Given the description of an element on the screen output the (x, y) to click on. 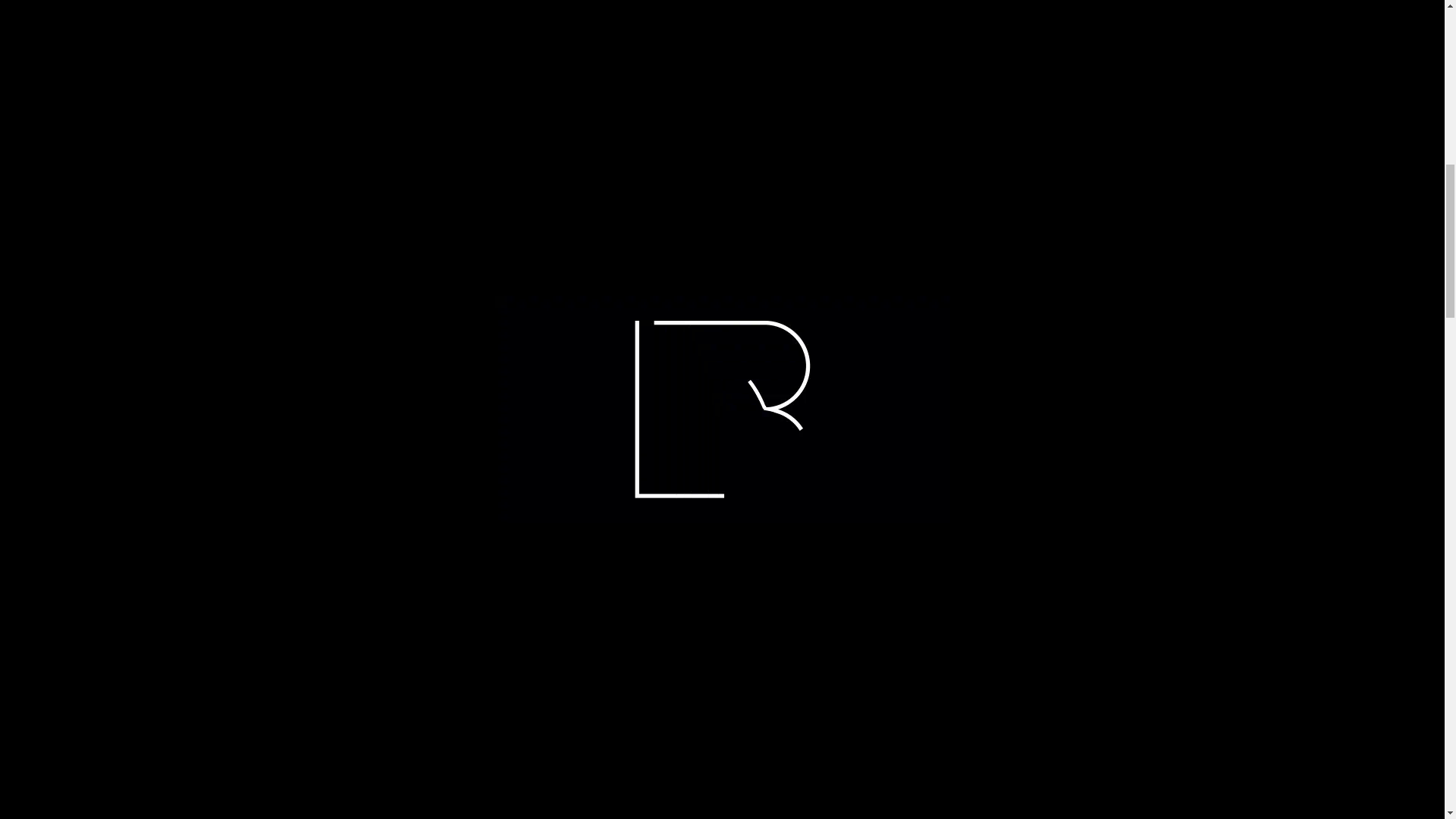
Request Info (798, 423)
